Given the description of an element on the screen output the (x, y) to click on. 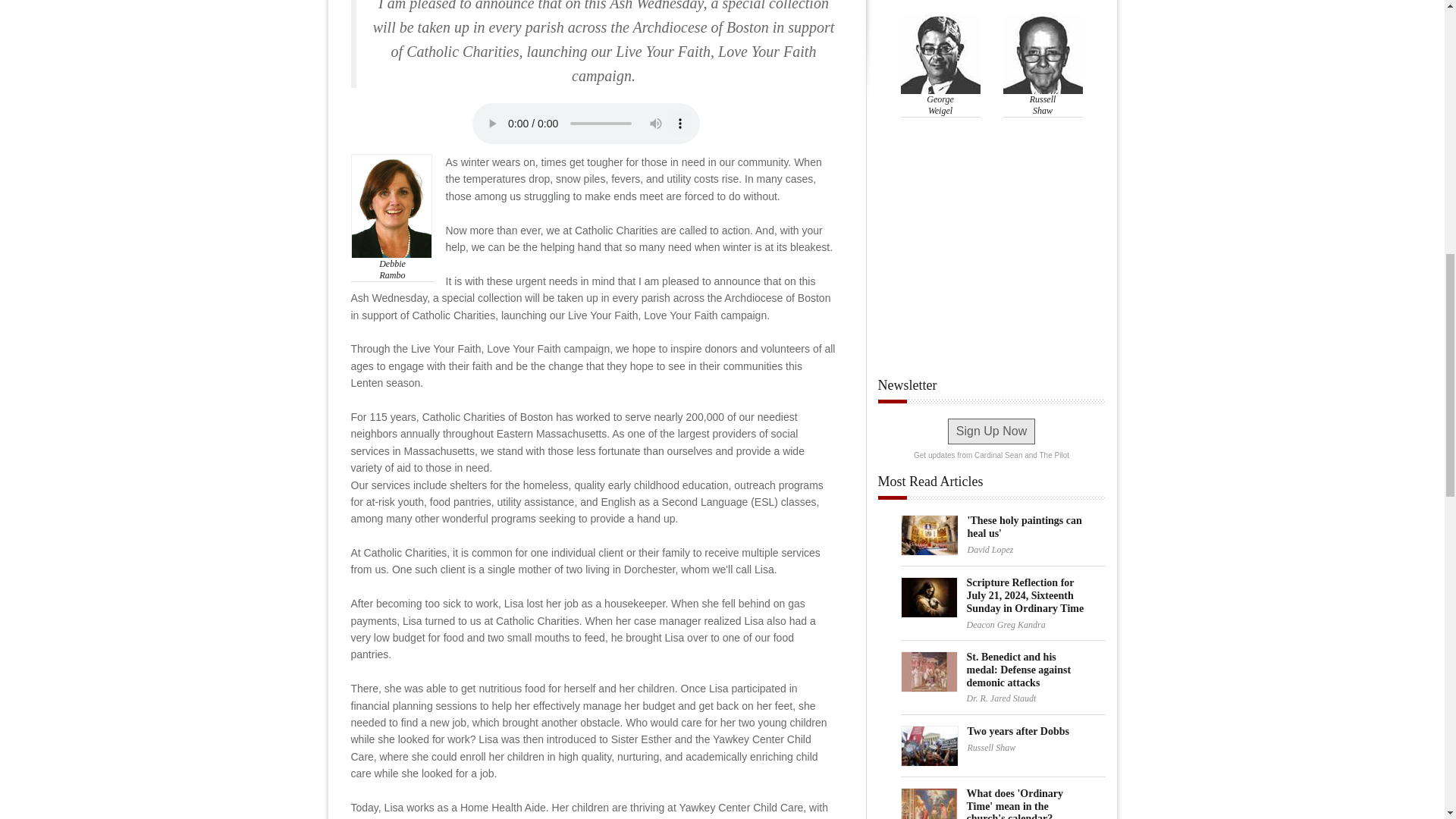
3rd party ad content (991, 258)
